Given the description of an element on the screen output the (x, y) to click on. 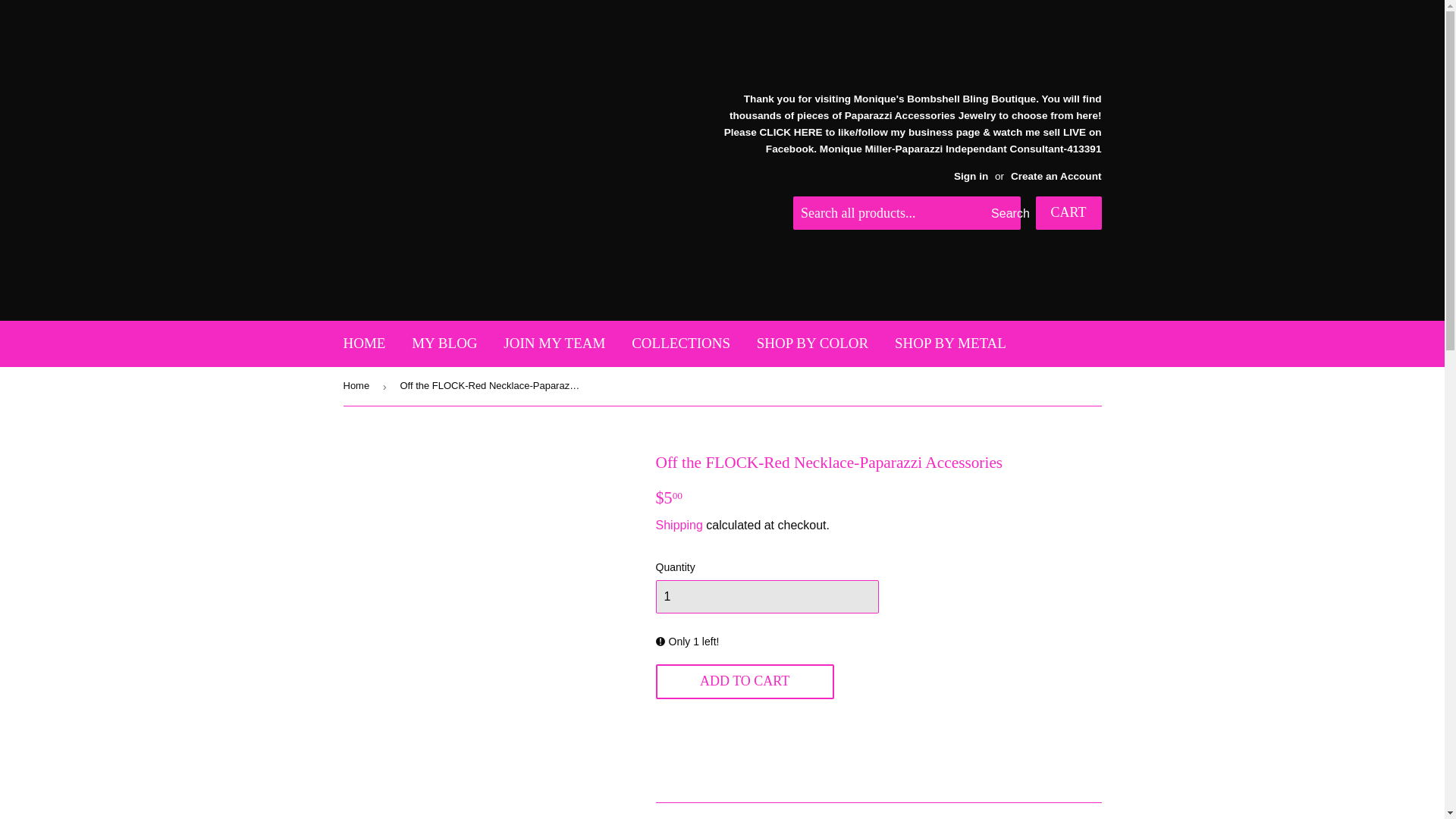
Search (1003, 214)
Sign in (970, 175)
1 (766, 596)
Create an Account (1056, 175)
CART (1068, 213)
